Given the description of an element on the screen output the (x, y) to click on. 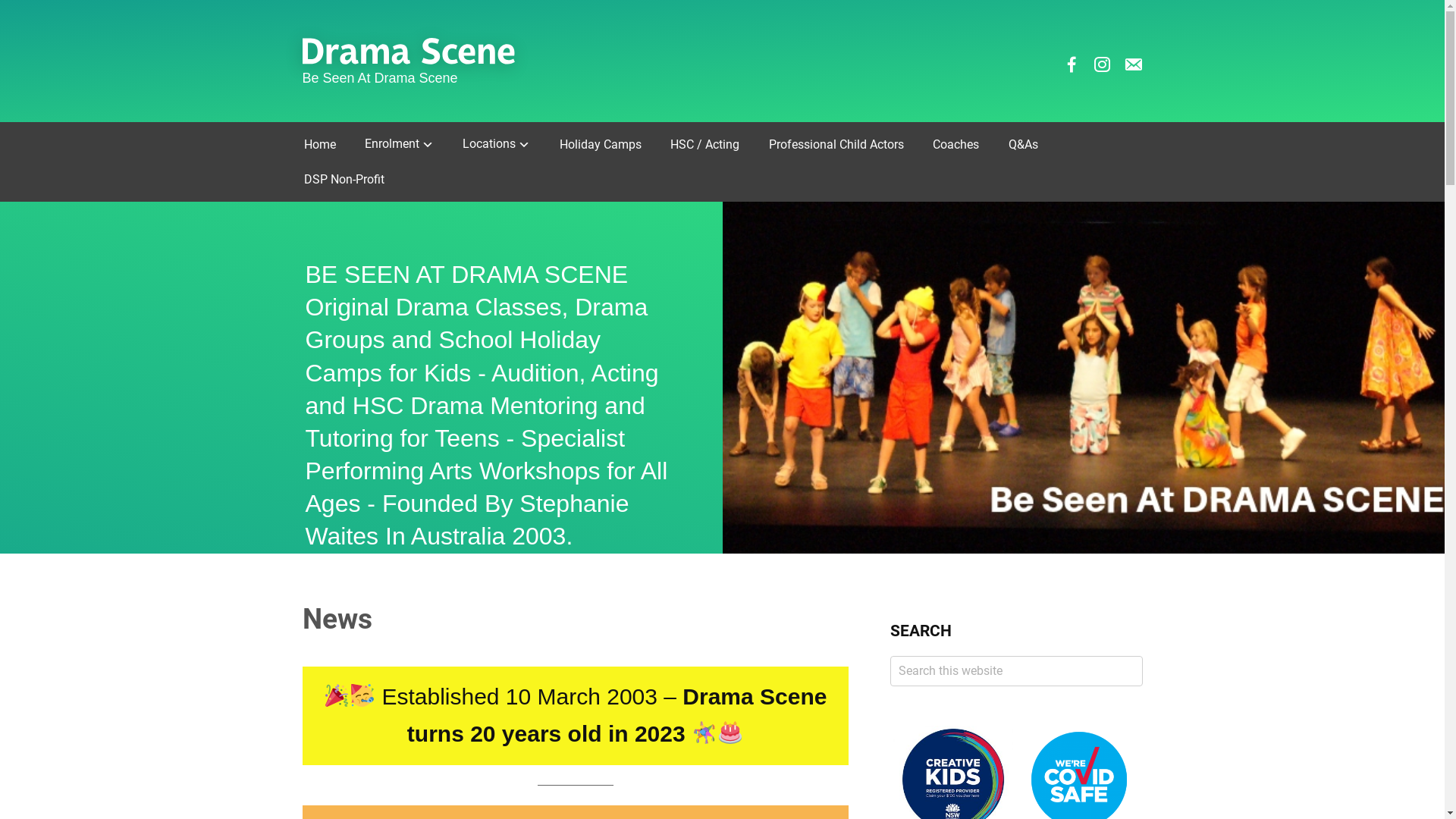
Professional Child Actors Element type: text (847, 144)
Enrolment Element type: text (410, 144)
HSC / Acting Element type: text (715, 144)
Holiday Camps Element type: text (611, 144)
Skip to primary navigation Element type: text (0, 0)
Locations Element type: text (507, 144)
Q&As Element type: text (1034, 144)
Search Element type: text (1142, 655)
DSP Non-Profit Element type: text (354, 179)
Coaches Element type: text (967, 144)
Home Element type: text (330, 144)
